Given the description of an element on the screen output the (x, y) to click on. 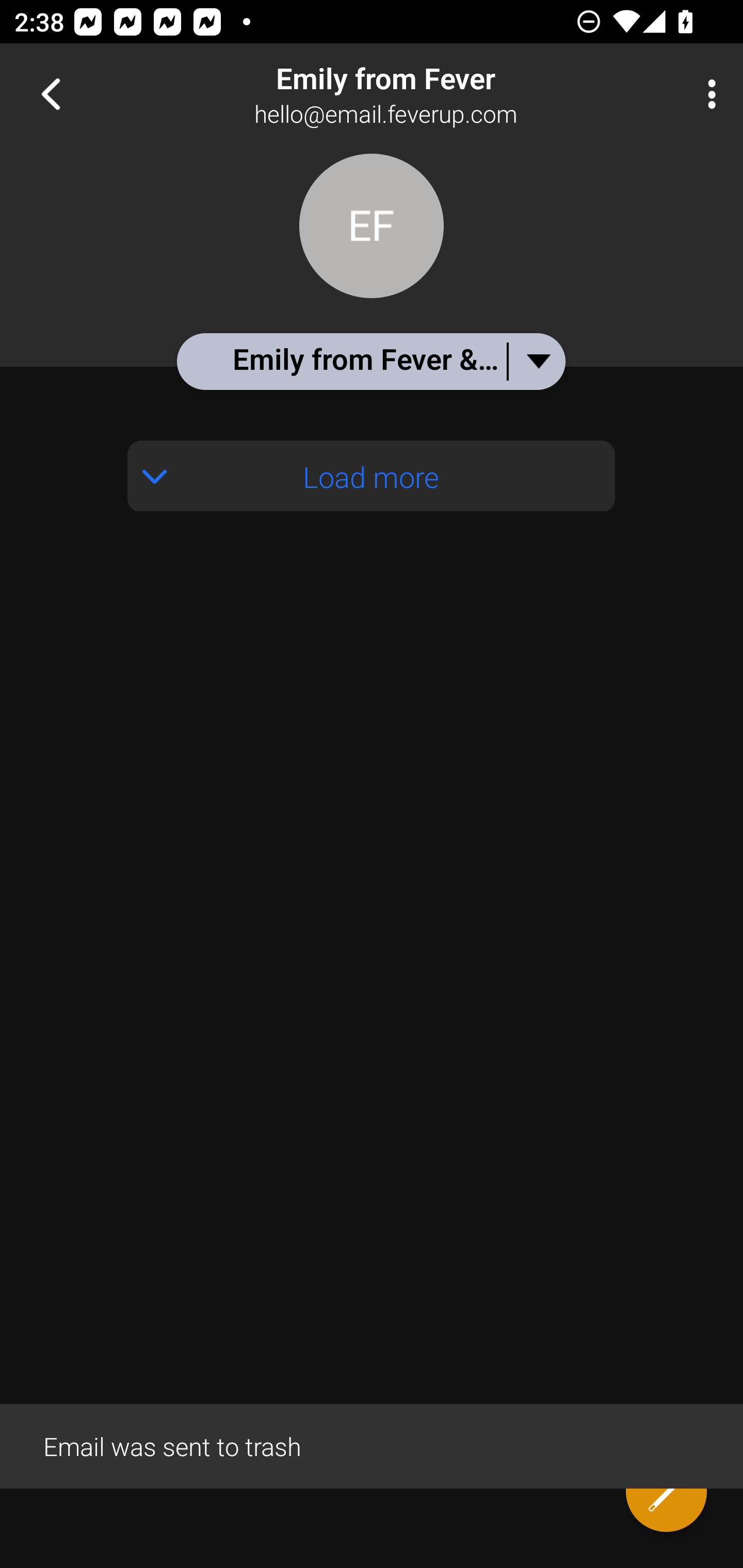
Navigate up (50, 93)
Emily from Fever hello@email.feverup.com (436, 93)
More Options (706, 93)
Emily from Fever & You (370, 361)
Load more (371, 475)
Email was sent to trash (371, 1445)
